Given the description of an element on the screen output the (x, y) to click on. 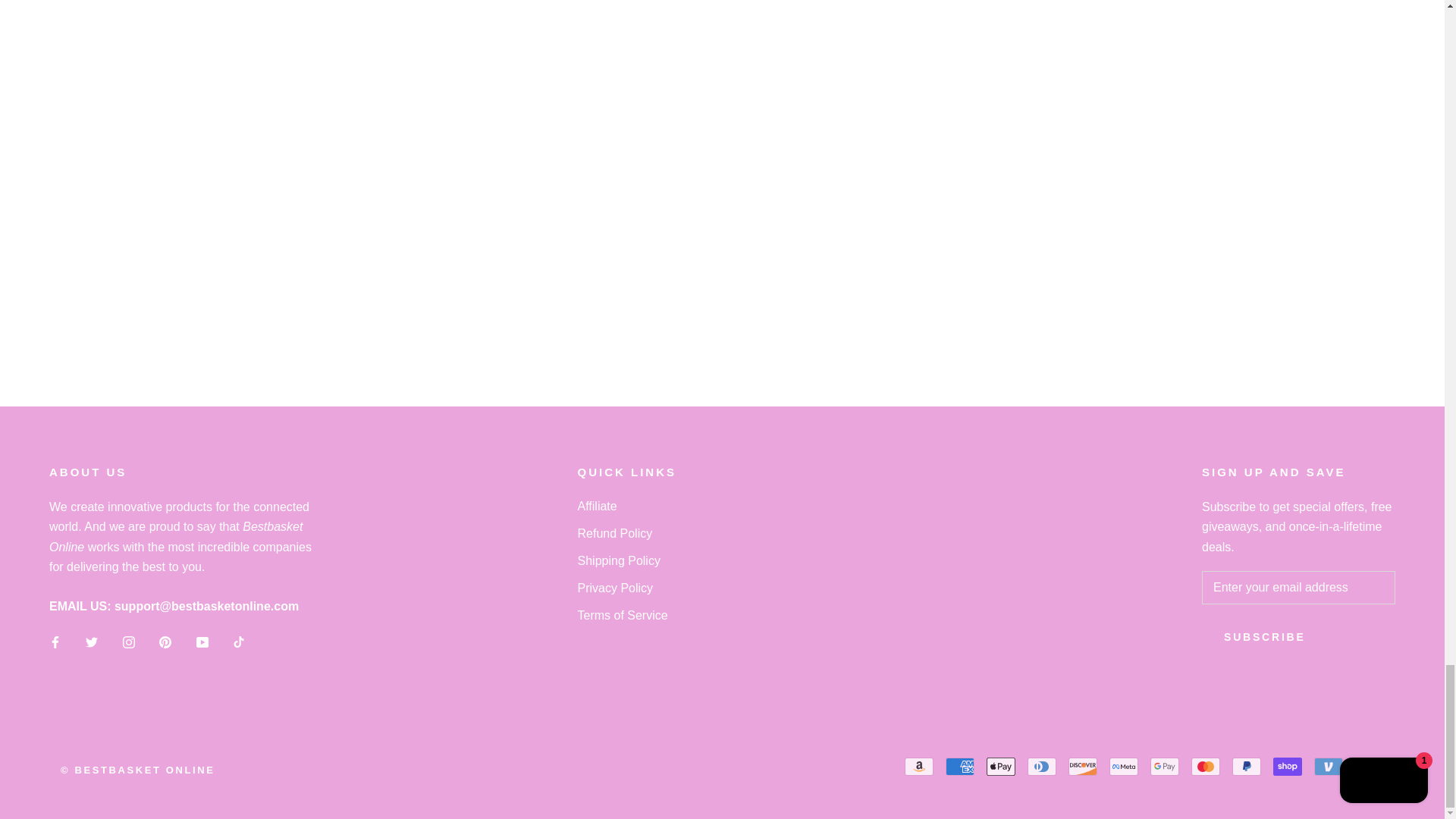
Diners Club (1042, 766)
Amazon (918, 766)
American Express (959, 766)
Meta Pay (1123, 766)
Google Pay (1164, 766)
Discover (1082, 766)
Apple Pay (1000, 766)
